Given the description of an element on the screen output the (x, y) to click on. 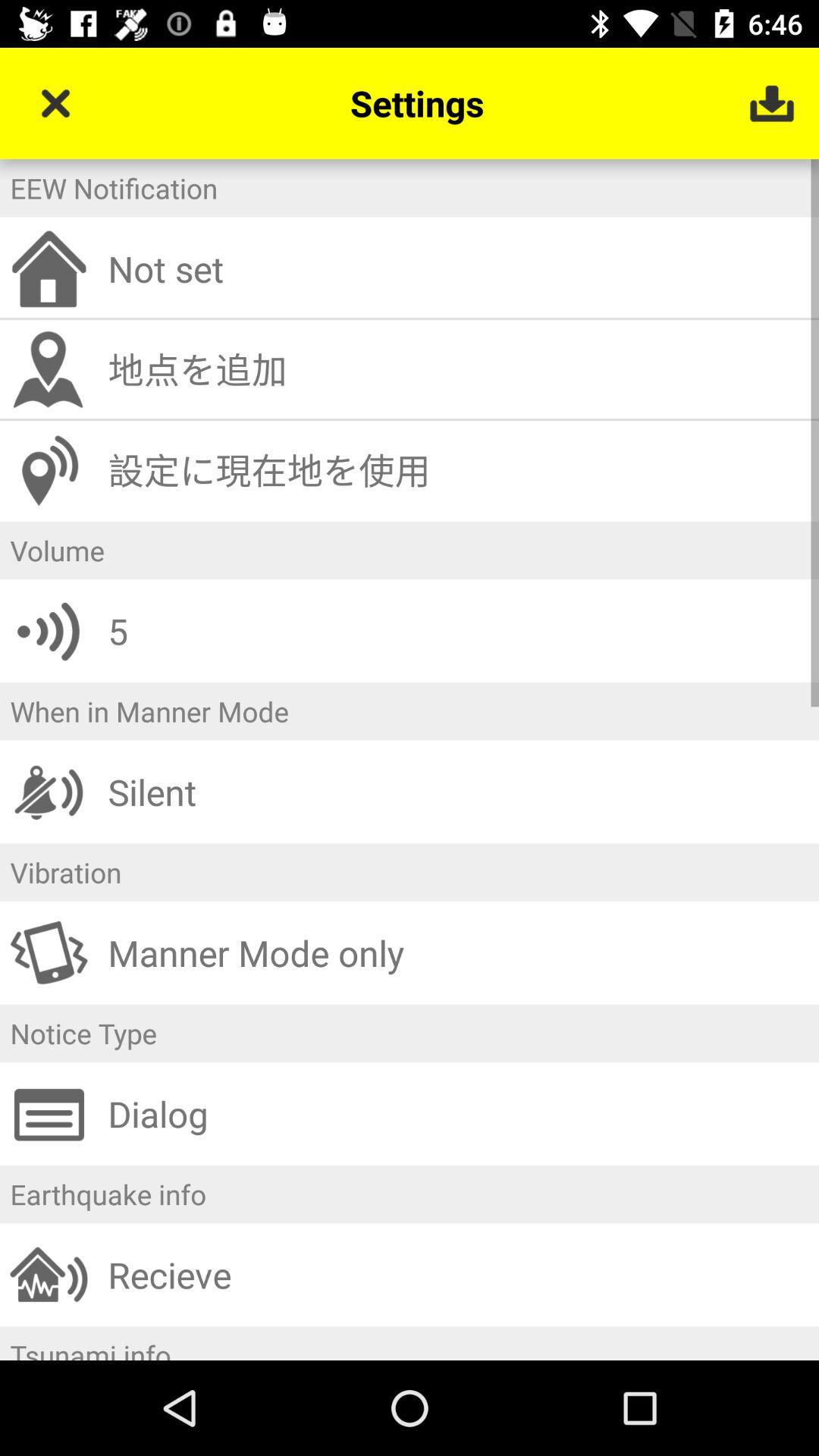
tap the icon above when in manner (458, 630)
